Given the description of an element on the screen output the (x, y) to click on. 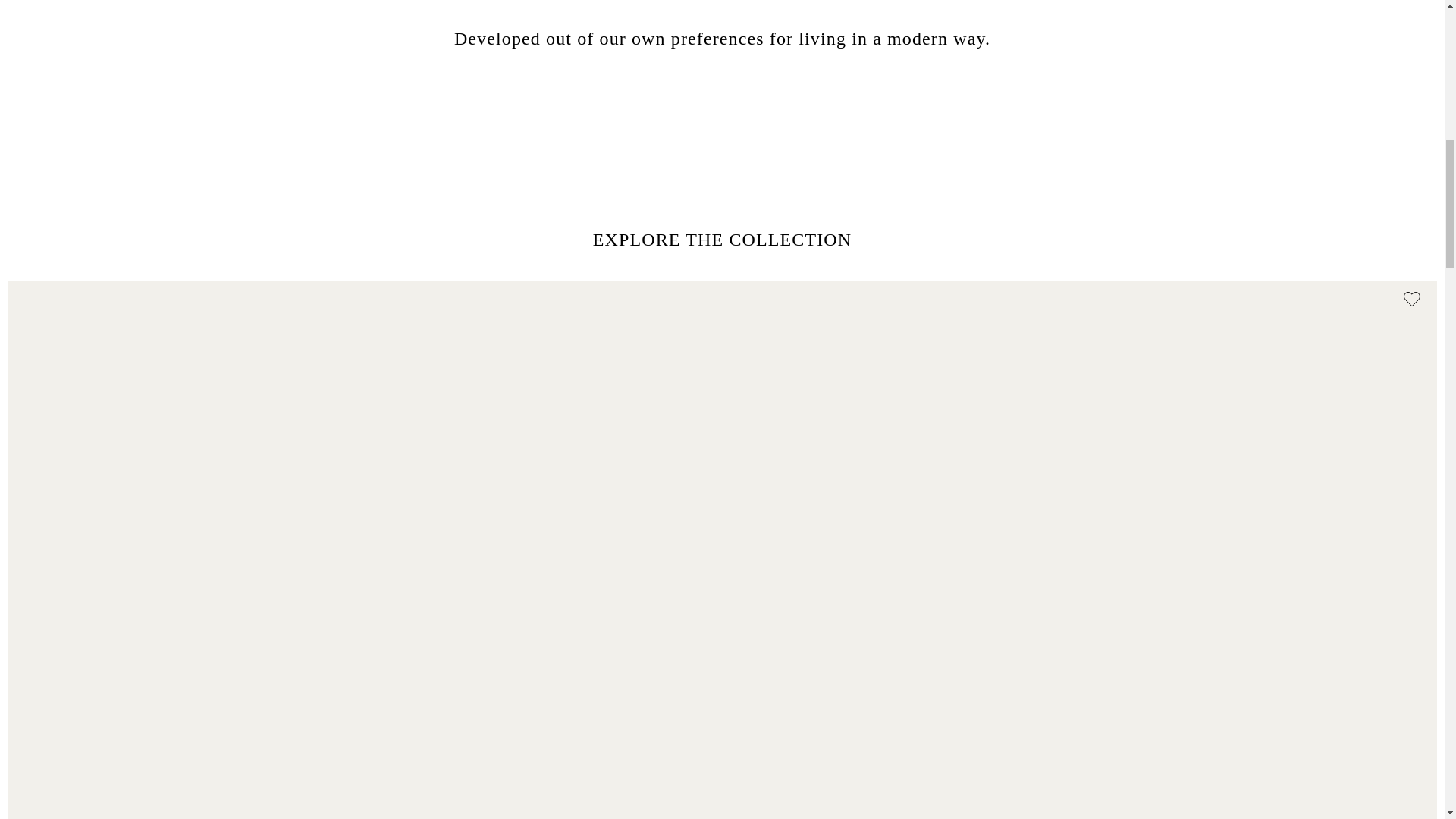
Add to wish list (1412, 299)
